Given the description of an element on the screen output the (x, y) to click on. 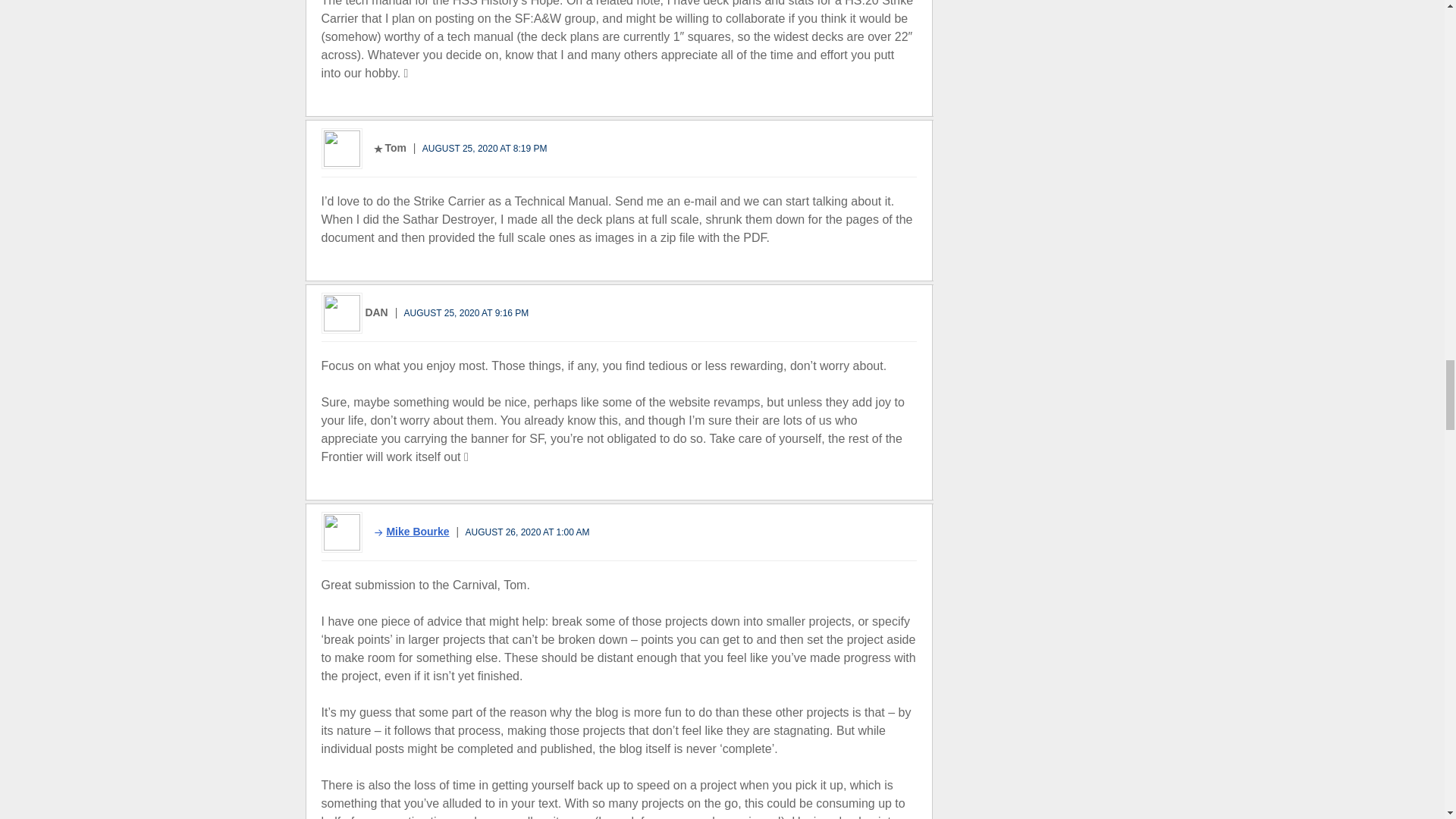
AUGUST 25, 2020 AT 9:16 PM (466, 312)
AUGUST 25, 2020 AT 8:19 PM (484, 147)
AUGUST 26, 2020 AT 1:00 AM (527, 531)
Mike Bourke (406, 530)
